Given the description of an element on the screen output the (x, y) to click on. 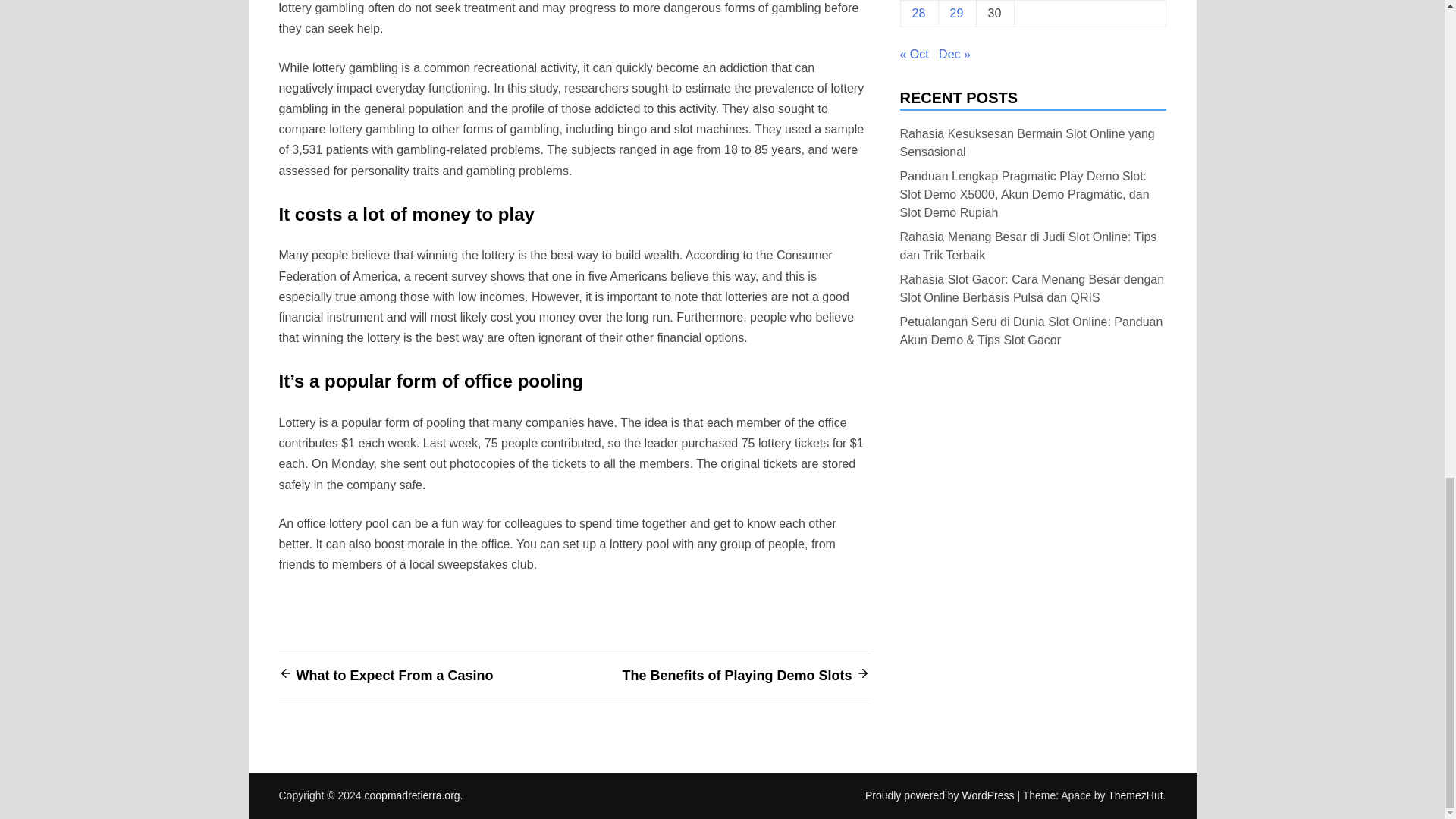
What to Expect From a Casino (394, 675)
coopmadretierra.org (412, 795)
The Benefits of Playing Demo Slots (736, 675)
